Given the description of an element on the screen output the (x, y) to click on. 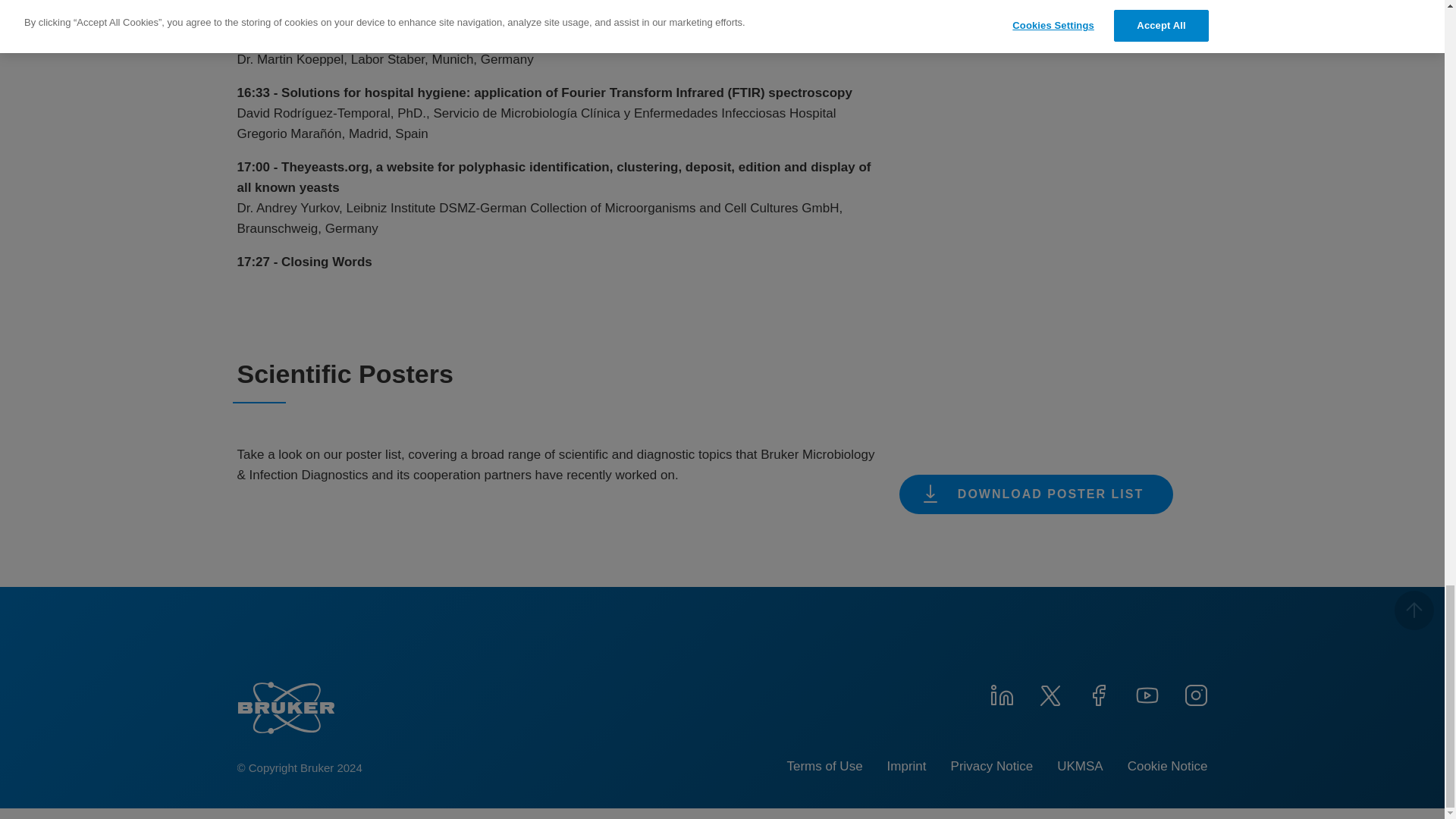
facebook (1097, 693)
instagram (1194, 693)
twitter (1048, 693)
youtube (1146, 693)
DOWNLOAD POSTER LIST (1036, 494)
linkedin (1000, 693)
